Given the description of an element on the screen output the (x, y) to click on. 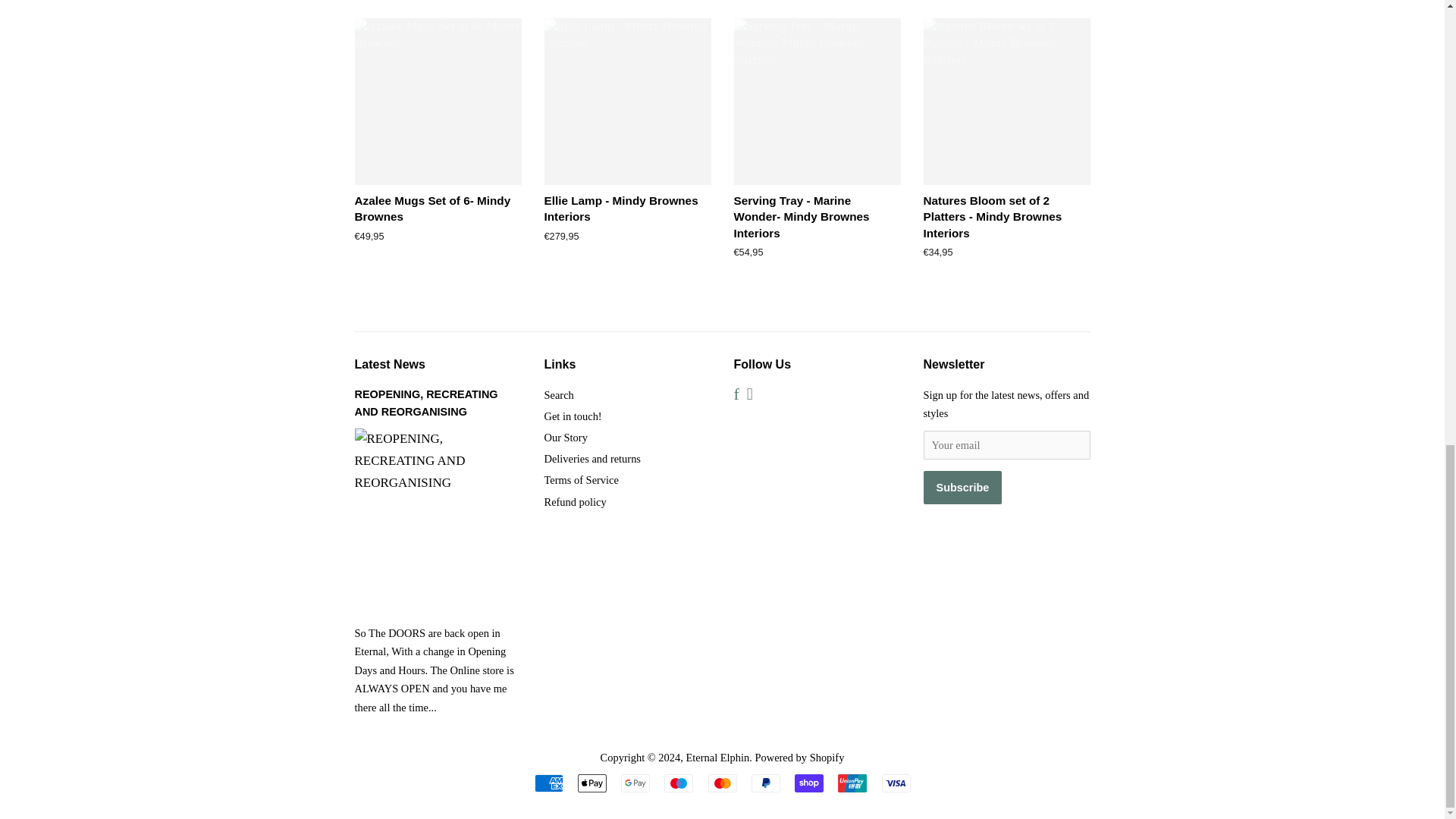
Google Pay (635, 782)
American Express (548, 782)
Subscribe (963, 487)
Apple Pay (592, 782)
Maestro (678, 782)
Latest News (390, 364)
Mastercard (721, 782)
Union Pay (852, 782)
Shop Pay (809, 782)
Visa (895, 782)
